Given the description of an element on the screen output the (x, y) to click on. 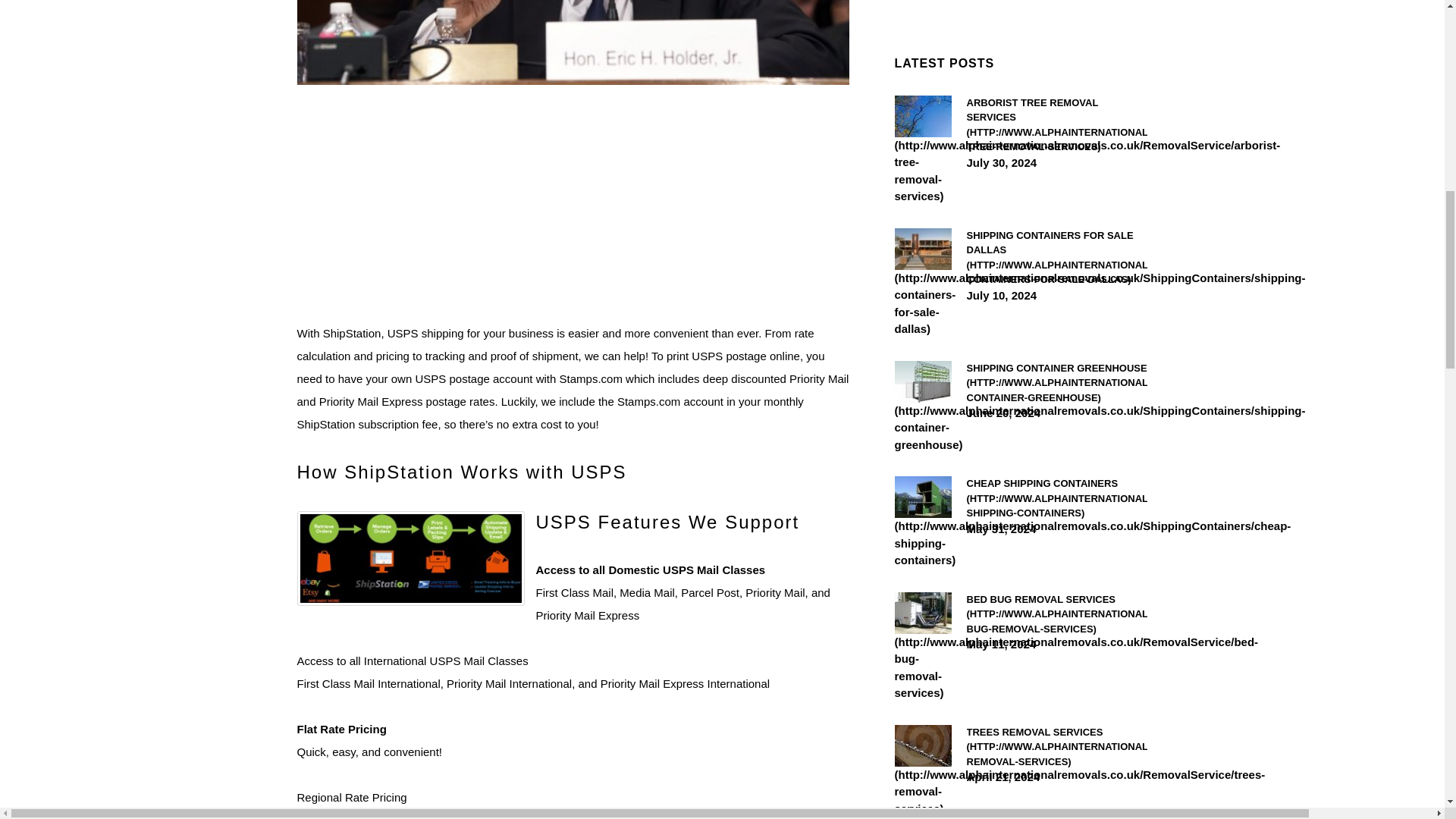
ARBORIST TREE REMOVAL SERVICES (1056, 124)
SHIPPING CONTAINERS FOR SALE DALLAS (1056, 256)
Advertisement (572, 215)
CHEAP SHIPPING CONTAINERS (1056, 497)
Advertisement (1021, 4)
SHIPPING CONTAINER GREENHOUSE (1056, 383)
BED BUG REMOVAL SERVICES (1056, 613)
TREES REMOVAL SERVICES (1056, 746)
